Given the description of an element on the screen output the (x, y) to click on. 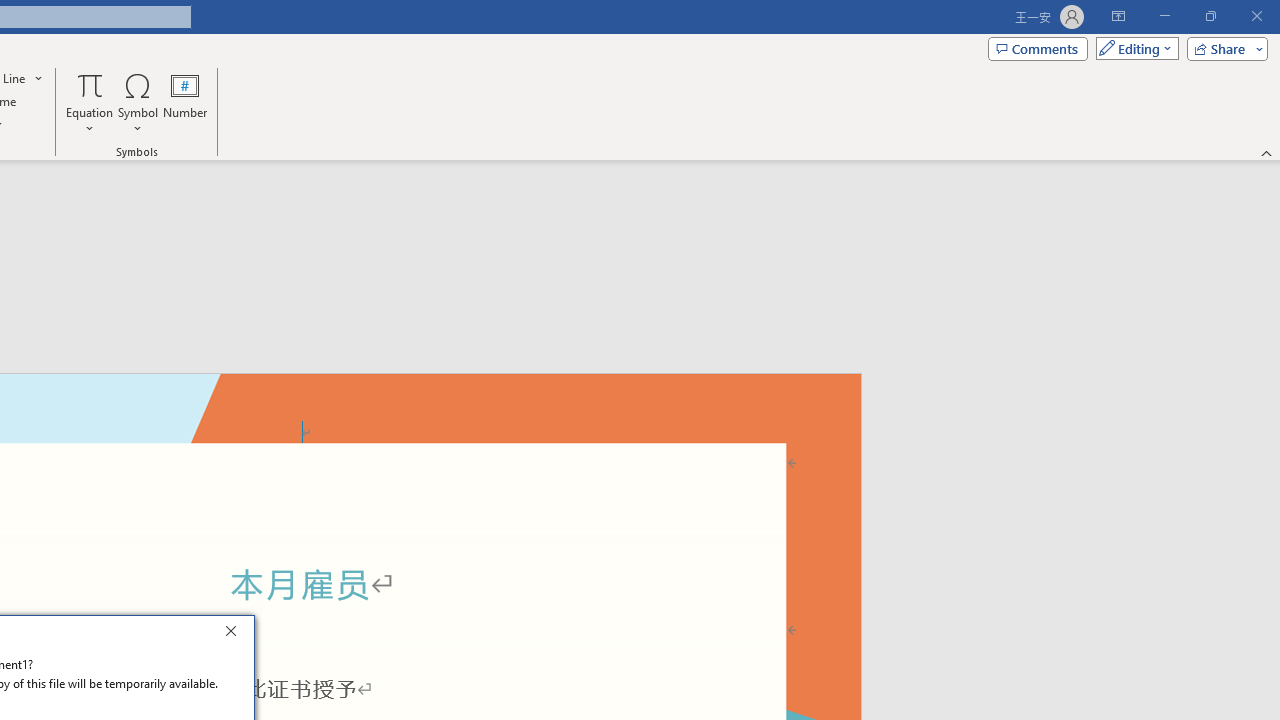
Ribbon Display Options (1118, 16)
Equation (90, 102)
Symbol (138, 102)
Collapse the Ribbon (1267, 152)
Restore Down (1210, 16)
Close (236, 633)
Comments (1038, 48)
Share (1223, 48)
Number... (185, 102)
More Options (90, 121)
Mode (1133, 47)
Minimize (1164, 16)
Equation (90, 84)
